Given the description of an element on the screen output the (x, y) to click on. 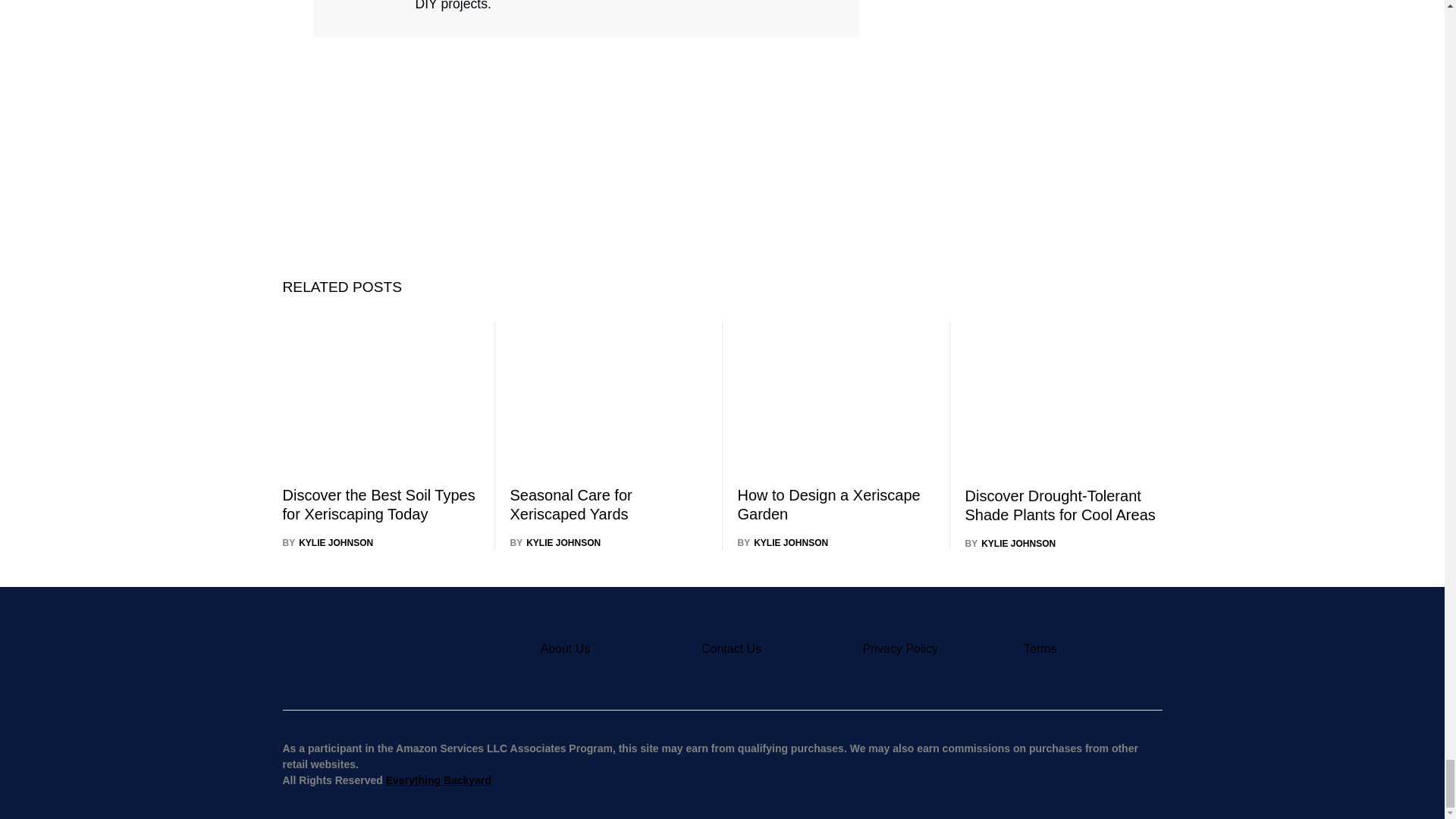
View all posts by Kylie Johnson (782, 542)
View all posts by Kylie Johnson (1009, 543)
View all posts by Kylie Johnson (327, 542)
View all posts by Kylie Johnson (554, 542)
